Given the description of an element on the screen output the (x, y) to click on. 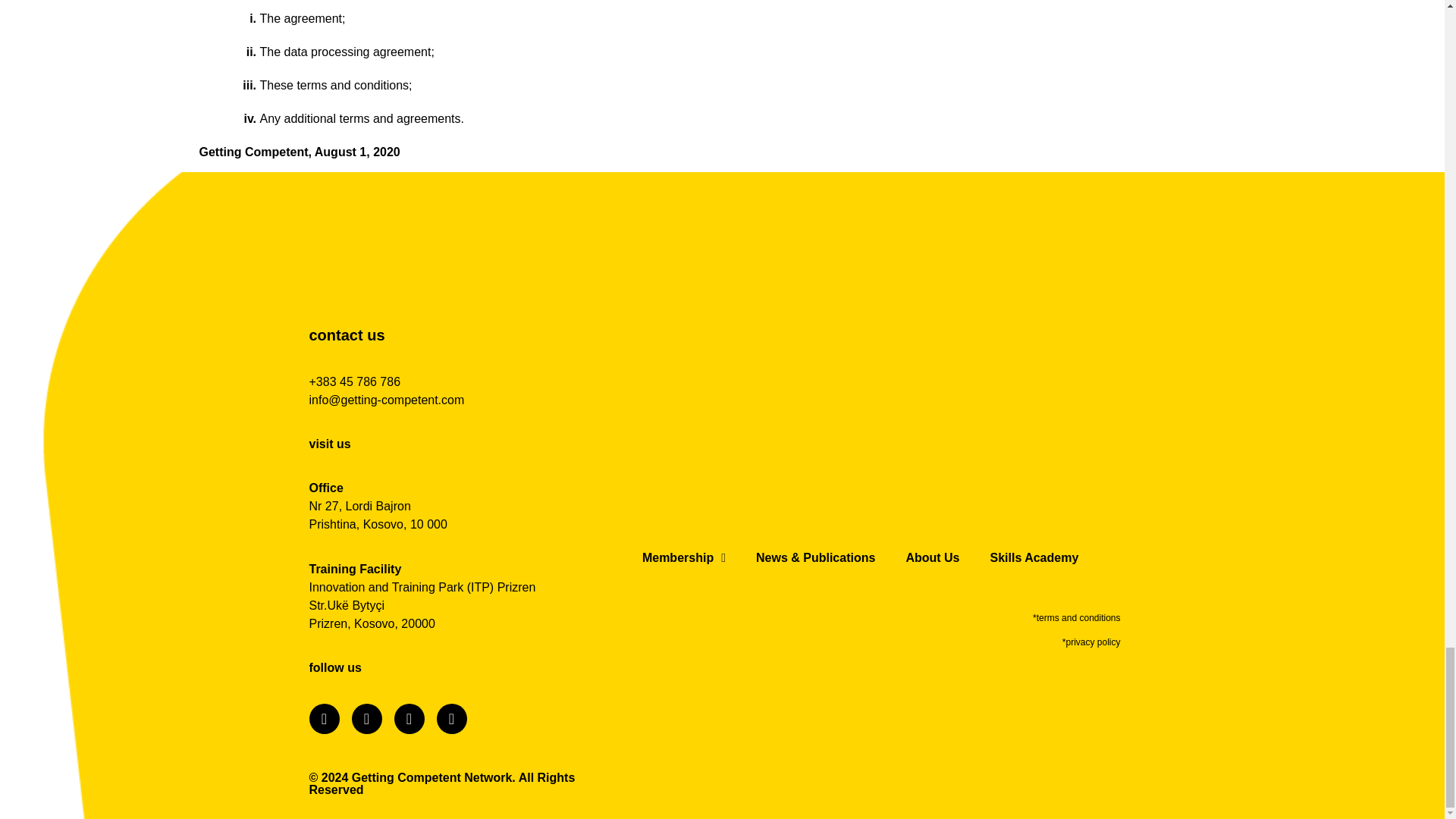
Membership (684, 557)
About Us (931, 557)
Skills Academy (1033, 557)
